Given the description of an element on the screen output the (x, y) to click on. 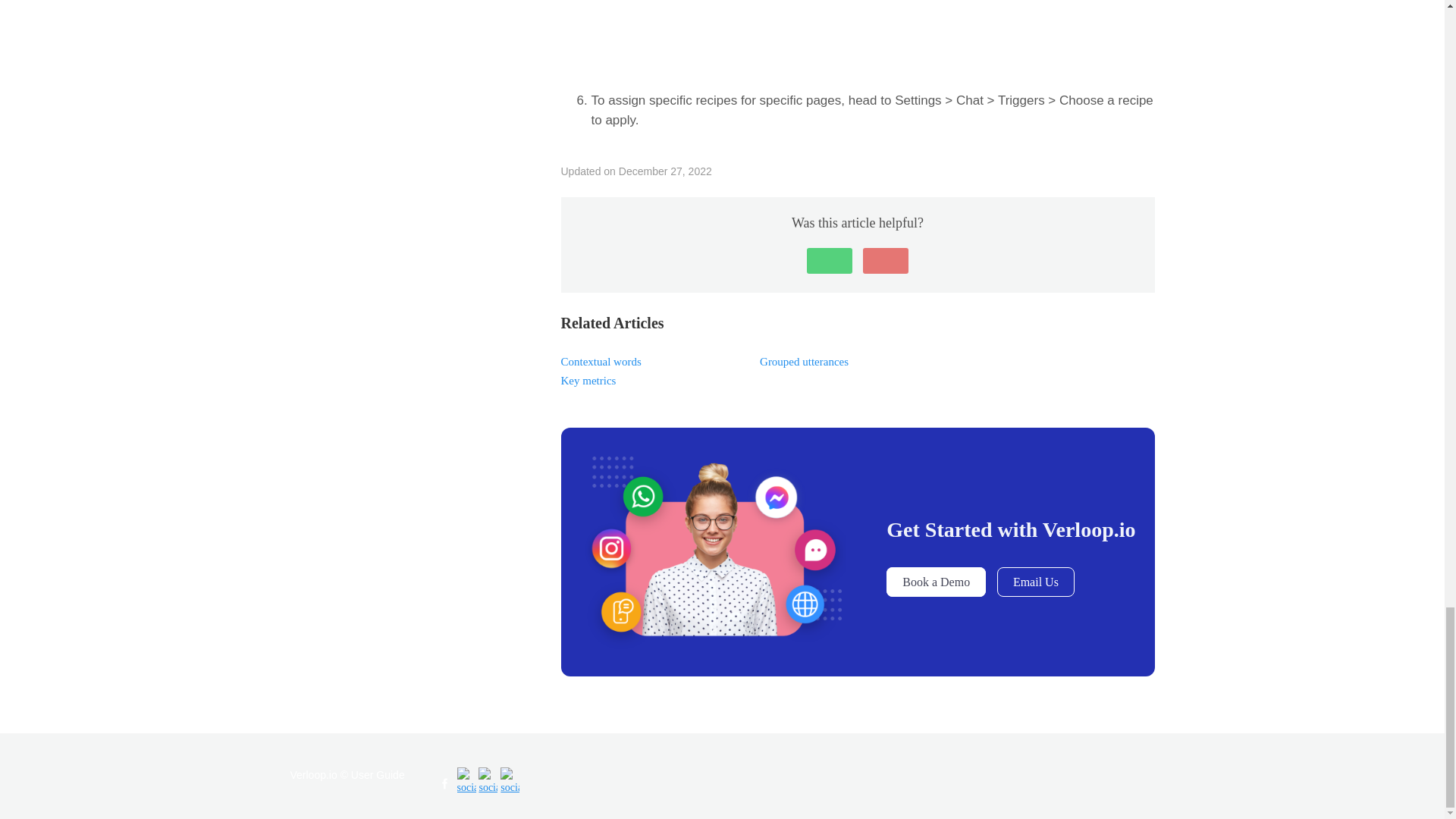
Grouped utterances (804, 361)
Book a Demo (935, 582)
Contextual words (601, 361)
Key metrics (587, 380)
Email Us (1035, 582)
Book a Demo (935, 582)
Email Us (1035, 582)
